Given the description of an element on the screen output the (x, y) to click on. 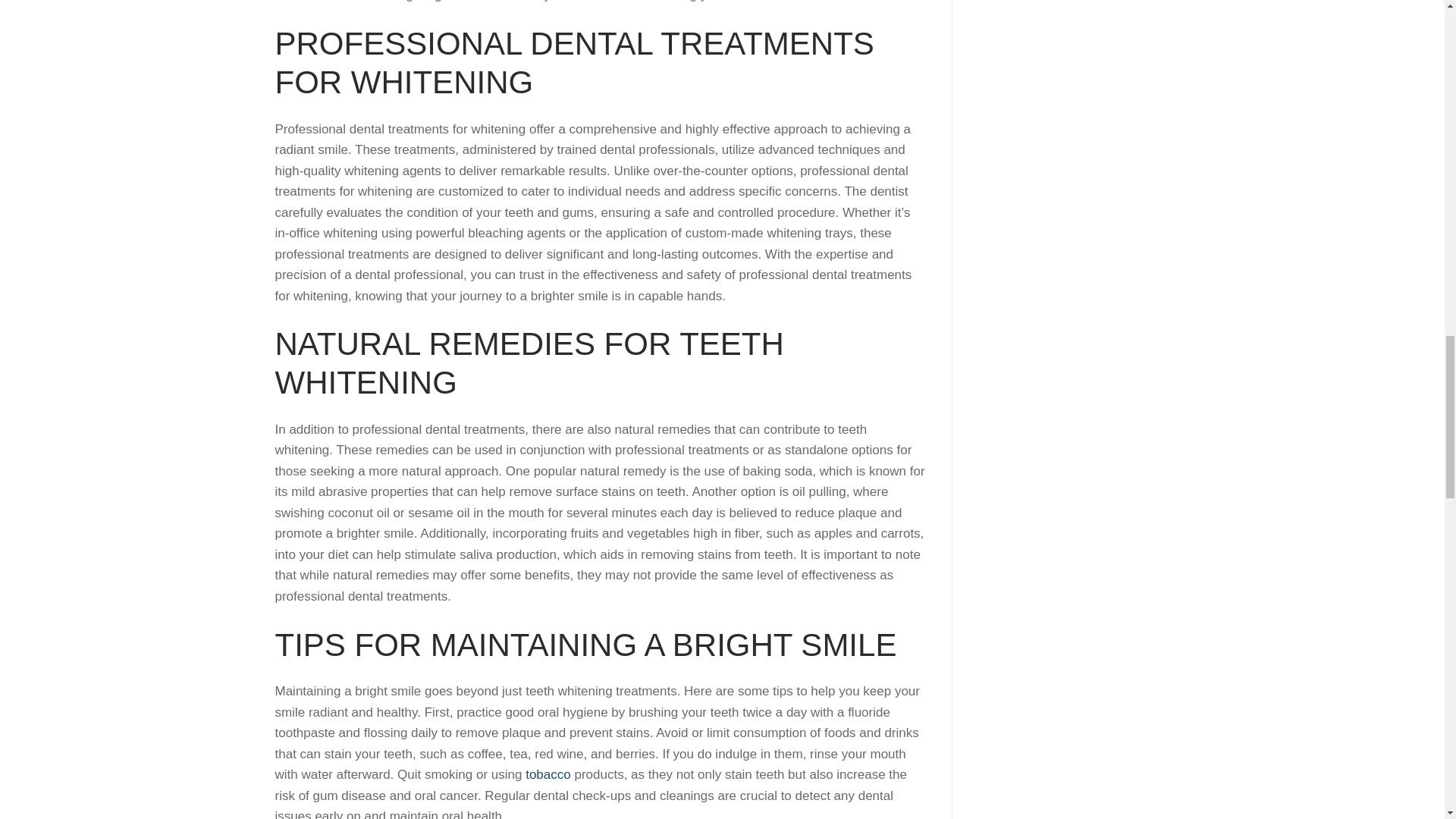
tobacco (547, 774)
